Given the description of an element on the screen output the (x, y) to click on. 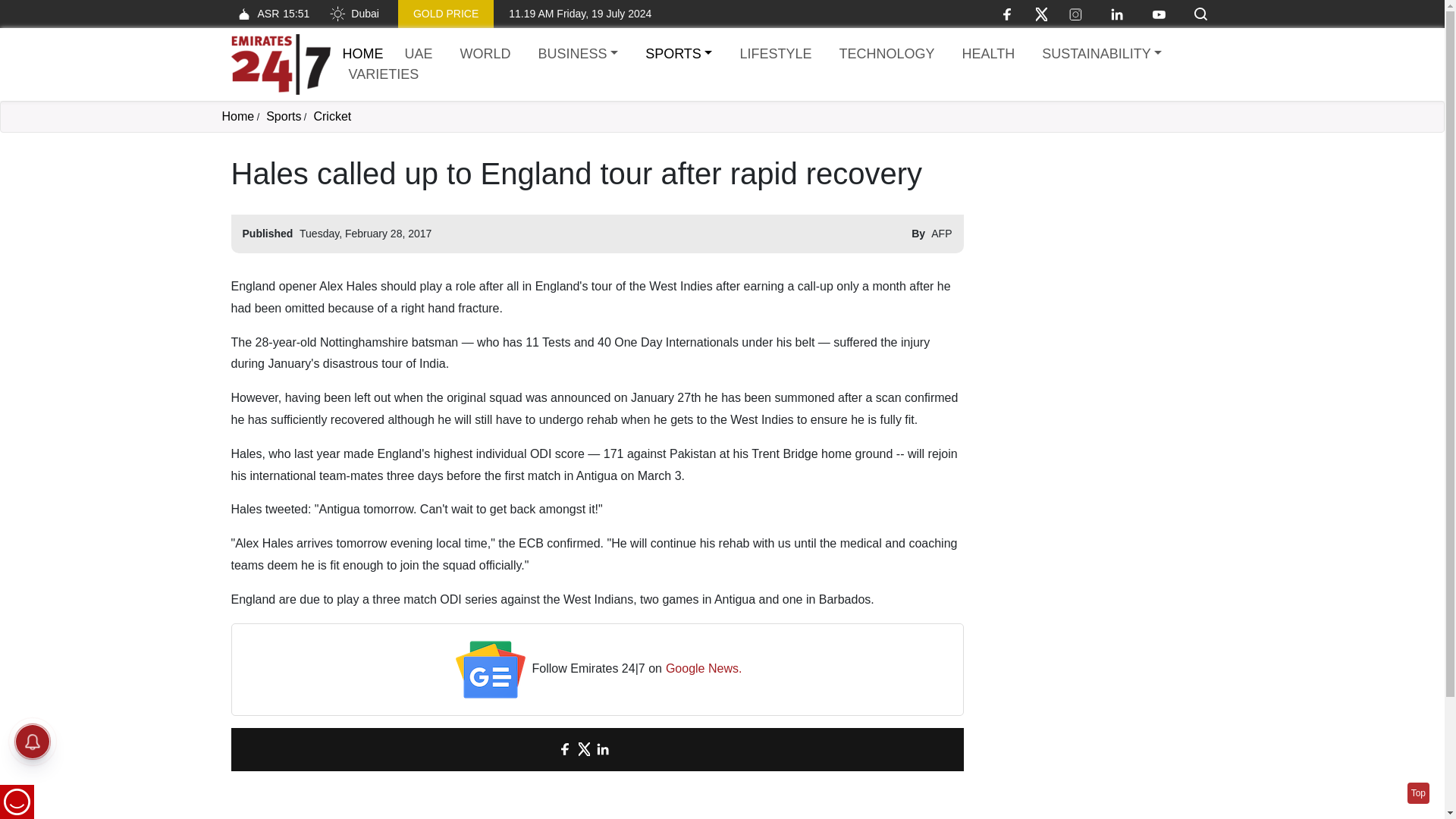
TECHNOLOGY (886, 54)
BUSINESS (578, 54)
SUSTAINABILITY (1101, 54)
VARIETIES (383, 74)
GOLD PRICE (445, 13)
WORLD (485, 54)
Dubai (353, 13)
UAE (418, 54)
Google News. (703, 669)
Home (280, 64)
Home (363, 53)
Sports (283, 115)
HEALTH (987, 54)
Home (237, 115)
LIFESTYLE (774, 54)
